Given the description of an element on the screen output the (x, y) to click on. 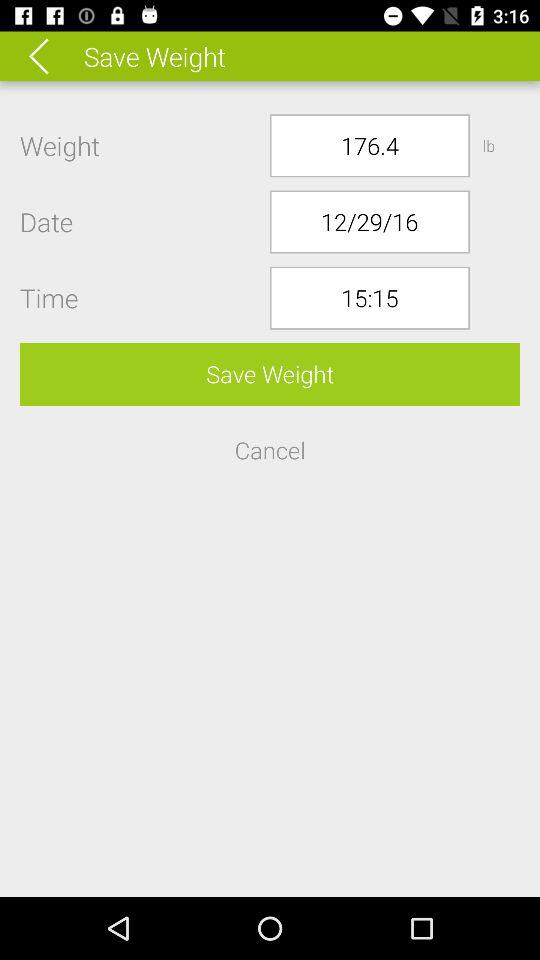
turn on the icon to the left of the lb (369, 145)
